Given the description of an element on the screen output the (x, y) to click on. 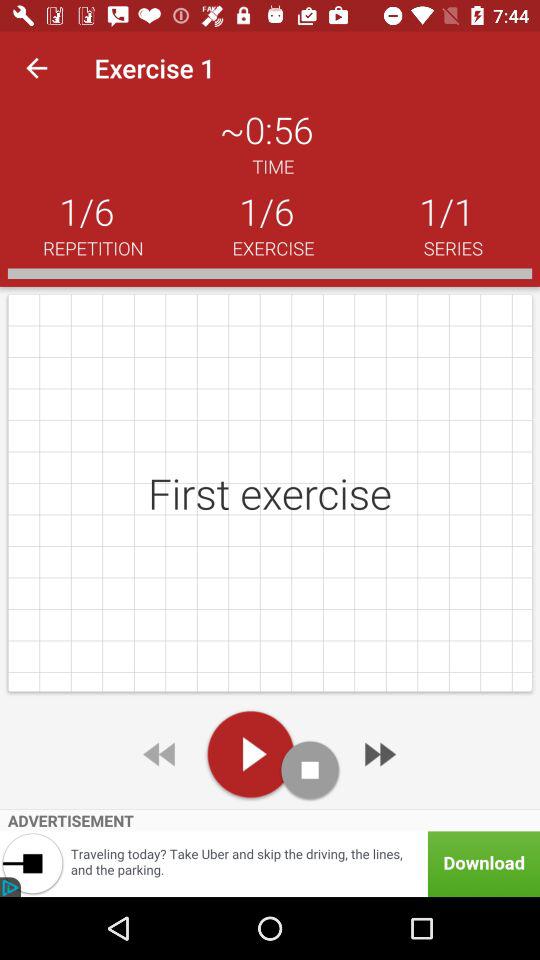
undo (161, 754)
